Given the description of an element on the screen output the (x, y) to click on. 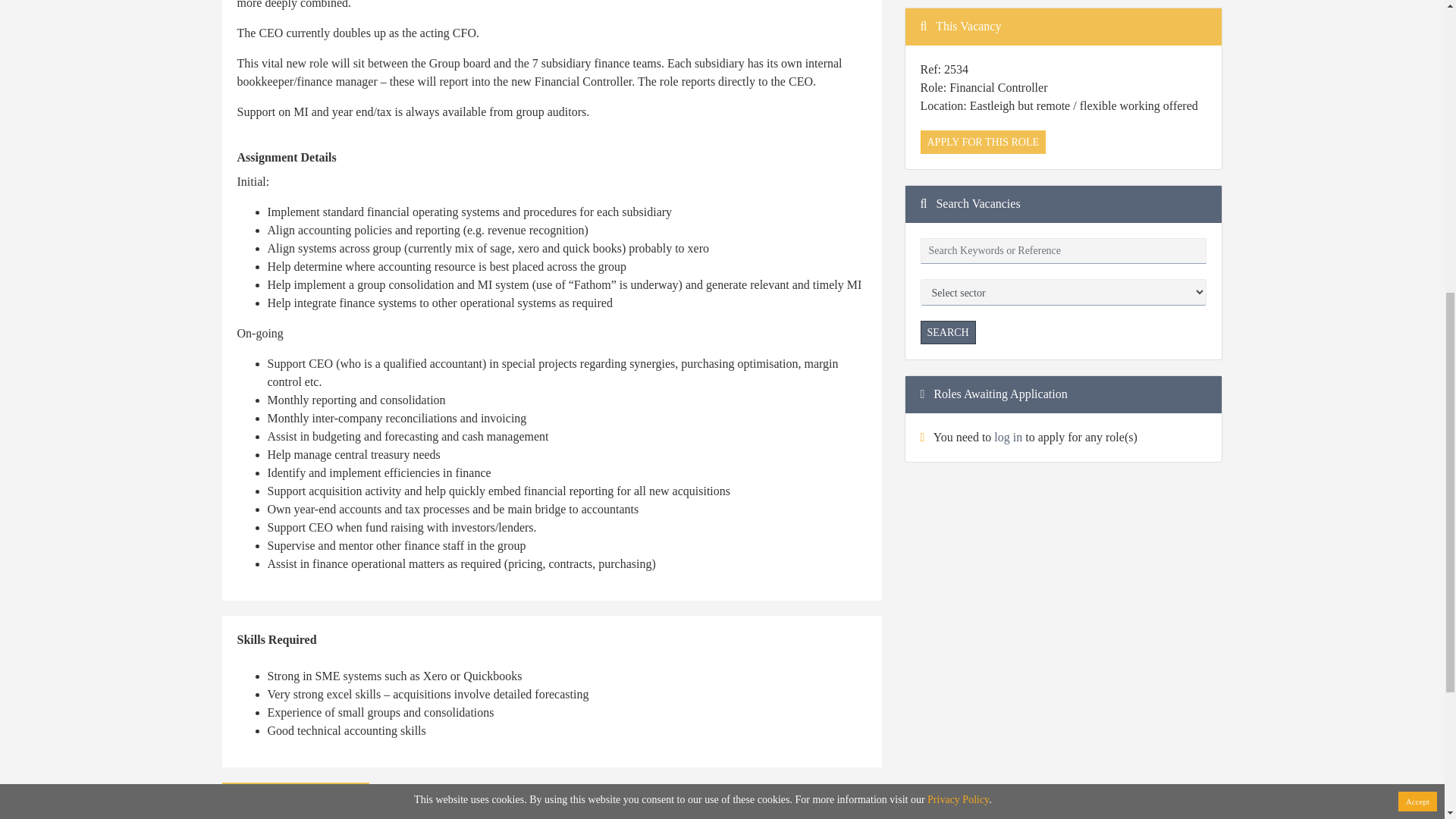
Website Terms (257, 110)
Testimonials (508, 128)
Privacy Policy (957, 220)
Post a Job (502, 91)
About Us (244, 91)
Contact Us (504, 110)
Privacy (240, 128)
  0330 1333 728 (774, 91)
Accept (1417, 223)
